Given the description of an element on the screen output the (x, y) to click on. 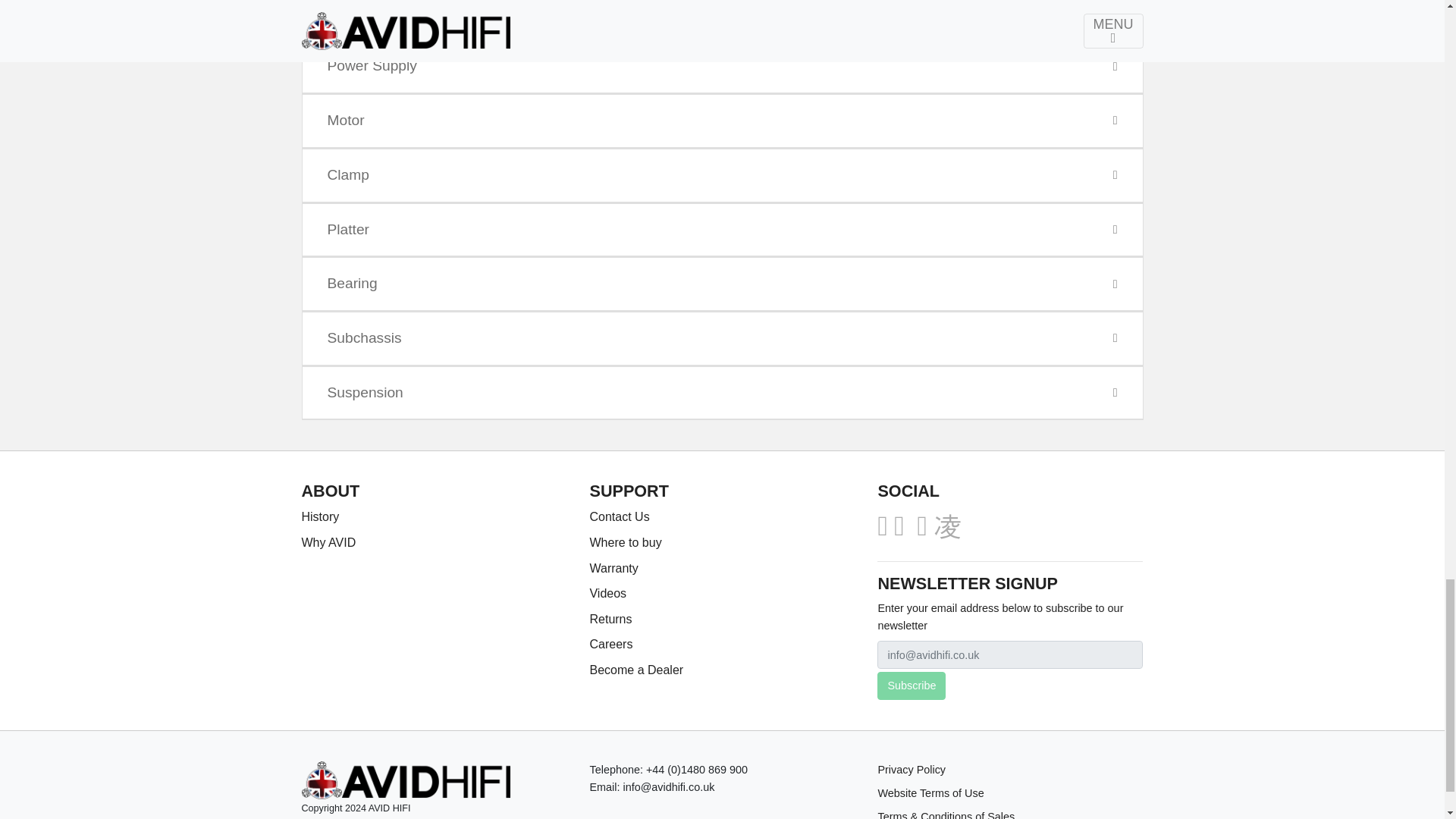
Subscribe (910, 685)
Clamp (721, 175)
Motor (721, 121)
instagram (946, 525)
Power Supply (721, 66)
